Given the description of an element on the screen output the (x, y) to click on. 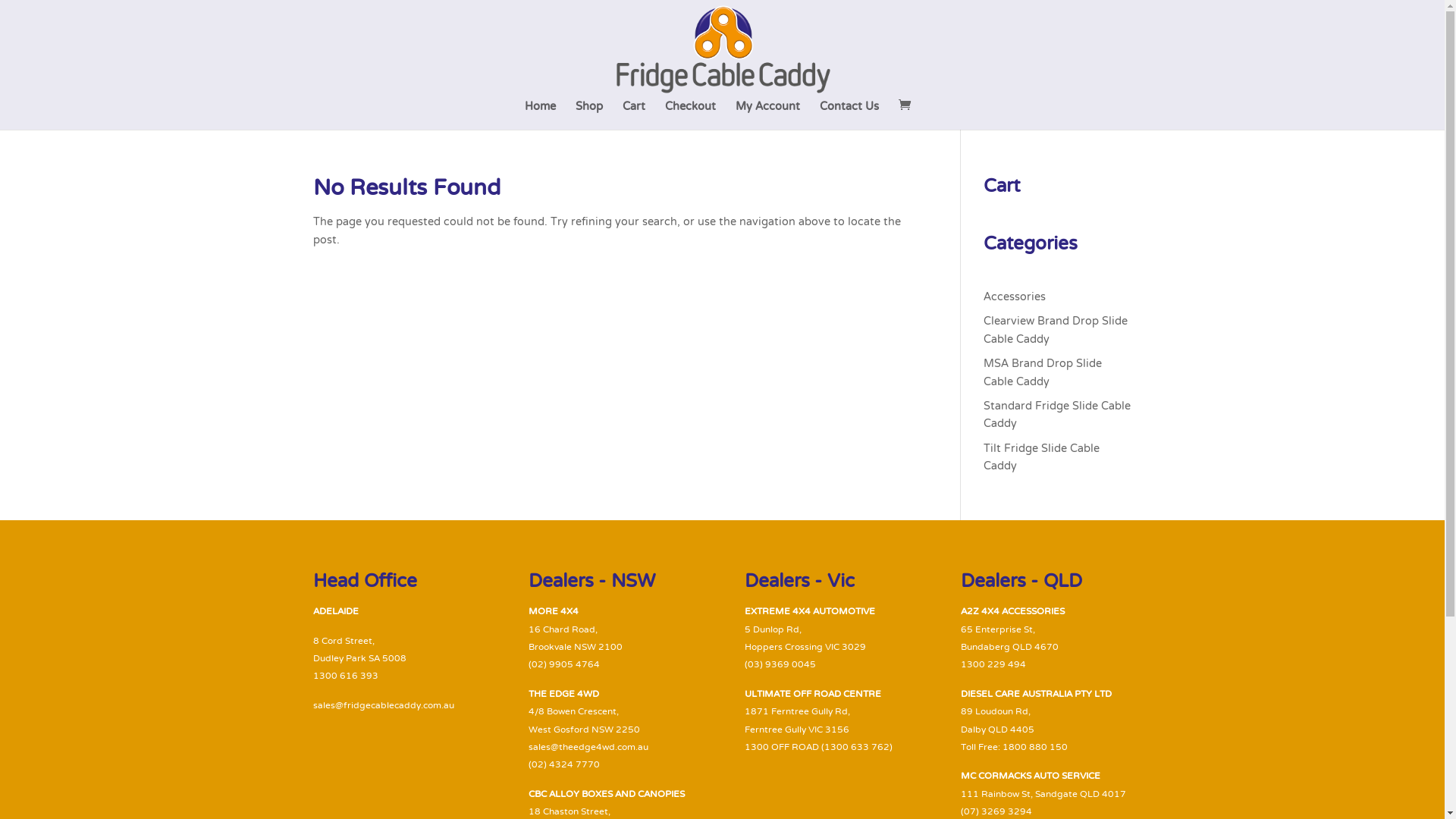
Contact Us Element type: text (848, 115)
1300 OFF ROAD (1300 633 762) Element type: text (818, 747)
Shop Element type: text (588, 115)
1300 229 494 Element type: text (993, 664)
THE EDGE 4WD Element type: text (563, 694)
sales@fridgecablecaddy.com.au Element type: text (382, 705)
Standard Fridge Slide Cable Caddy Element type: text (1056, 415)
Accessories Element type: text (1014, 296)
Home Element type: text (539, 115)
(03) 9369 0045 Element type: text (779, 664)
Toll Free: 1800 880 150 Element type: text (1013, 747)
(02) 4324 7770 Element type: text (563, 765)
(02) 9905 4764 Element type: text (563, 664)
MSA Brand Drop Slide Cable Caddy Element type: text (1042, 372)
Tilt Fridge Slide Cable Caddy Element type: text (1041, 457)
Checkout Element type: text (690, 115)
My Account Element type: text (767, 115)
Cart Element type: text (633, 115)
1300 616 393 Element type: text (344, 676)
sales@theedge4wd.com.au Element type: text (588, 747)
Clearview Brand Drop Slide Cable Caddy Element type: text (1055, 330)
